Given the description of an element on the screen output the (x, y) to click on. 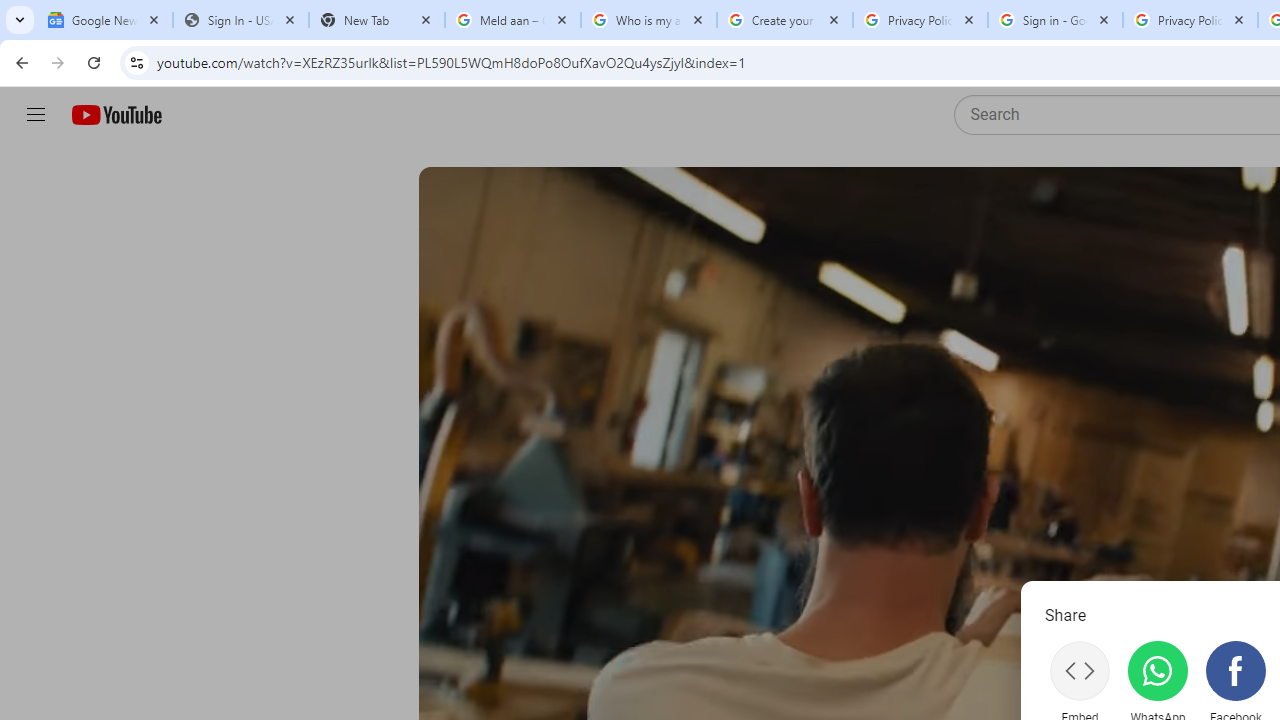
New Tab (376, 20)
YouTube Home (116, 115)
